Given the description of an element on the screen output the (x, y) to click on. 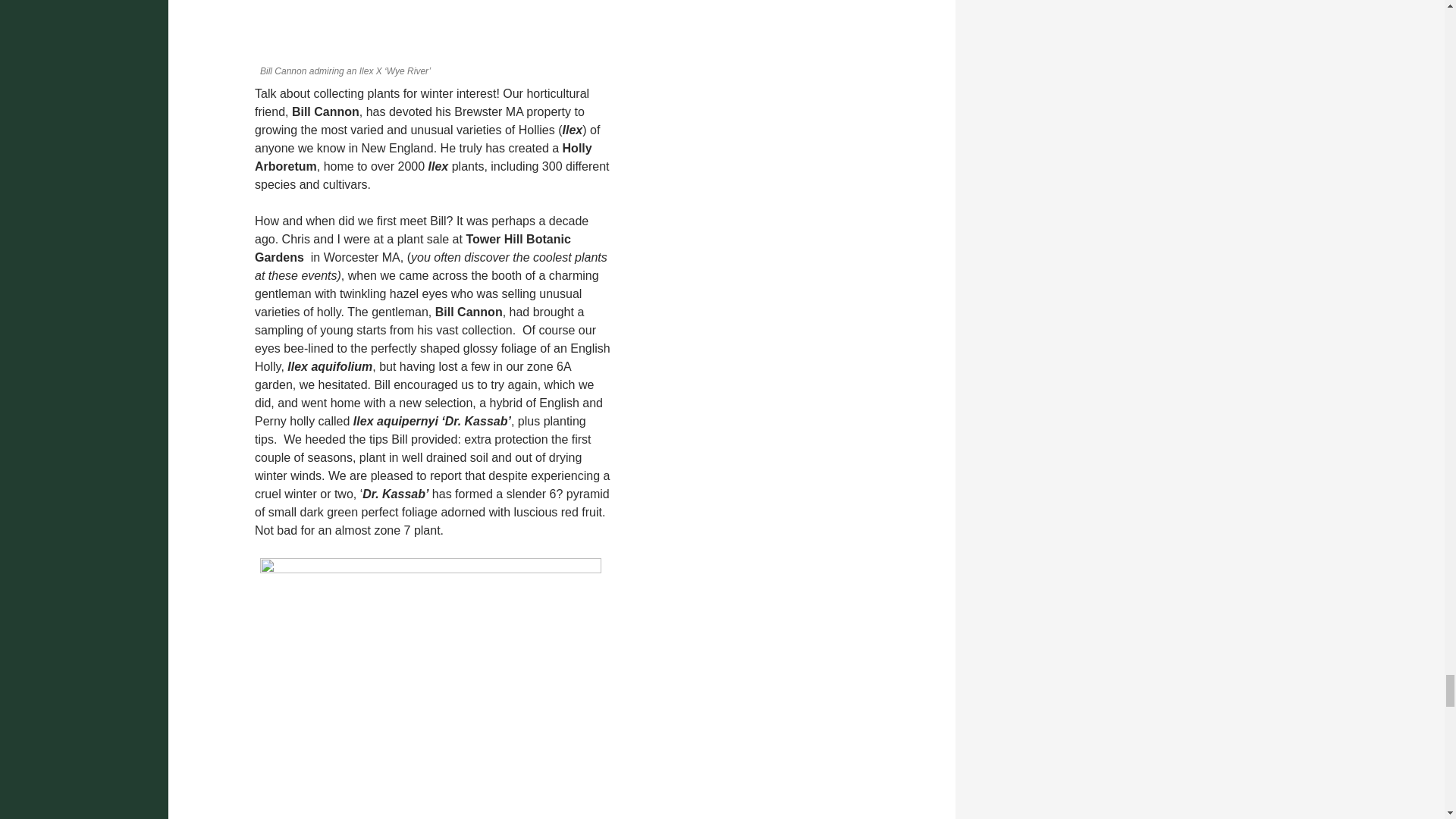
Bill Cannon (430, 28)
